Given the description of an element on the screen output the (x, y) to click on. 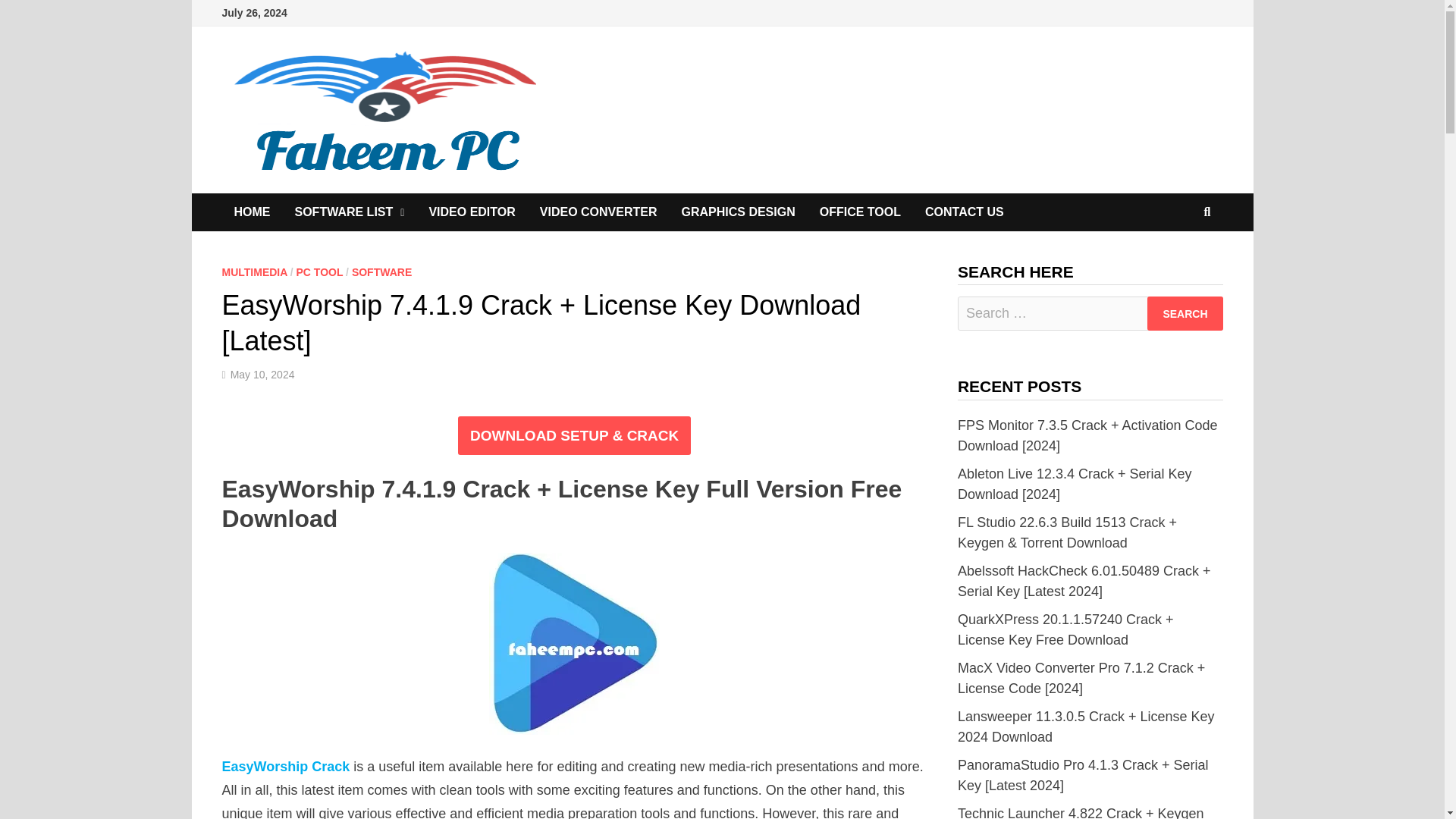
GRAPHICS DESIGN (737, 211)
Search (1185, 313)
HOME (251, 211)
Search (1185, 313)
CONTACT US (964, 211)
SOFTWARE LIST (349, 211)
OFFICE TOOL (860, 211)
VIDEO EDITOR (471, 211)
VIDEO CONVERTER (598, 211)
